Given the description of an element on the screen output the (x, y) to click on. 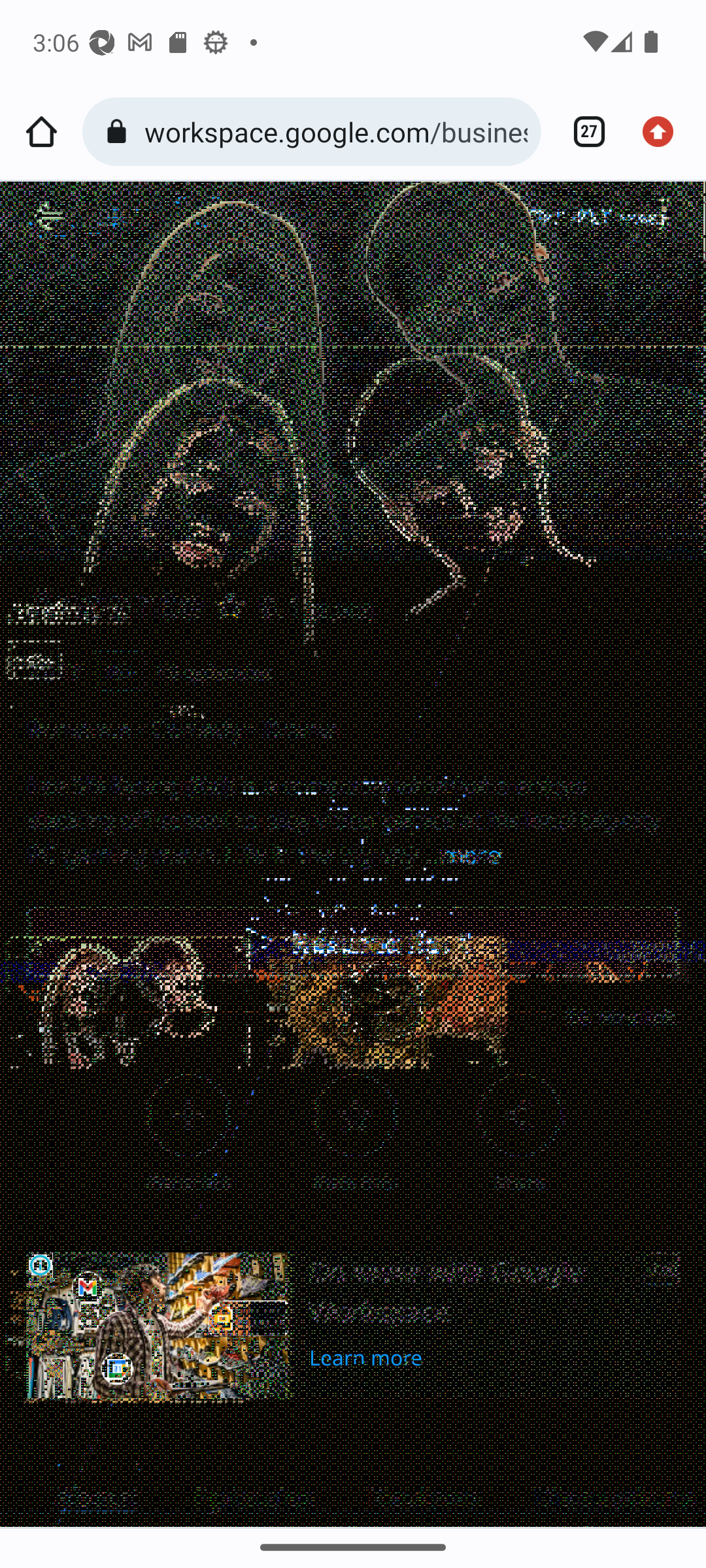
Home (41, 131)
Connection is secure (120, 131)
Switch or close tabs (582, 131)
Update available. More options (664, 131)
